Given the description of an element on the screen output the (x, y) to click on. 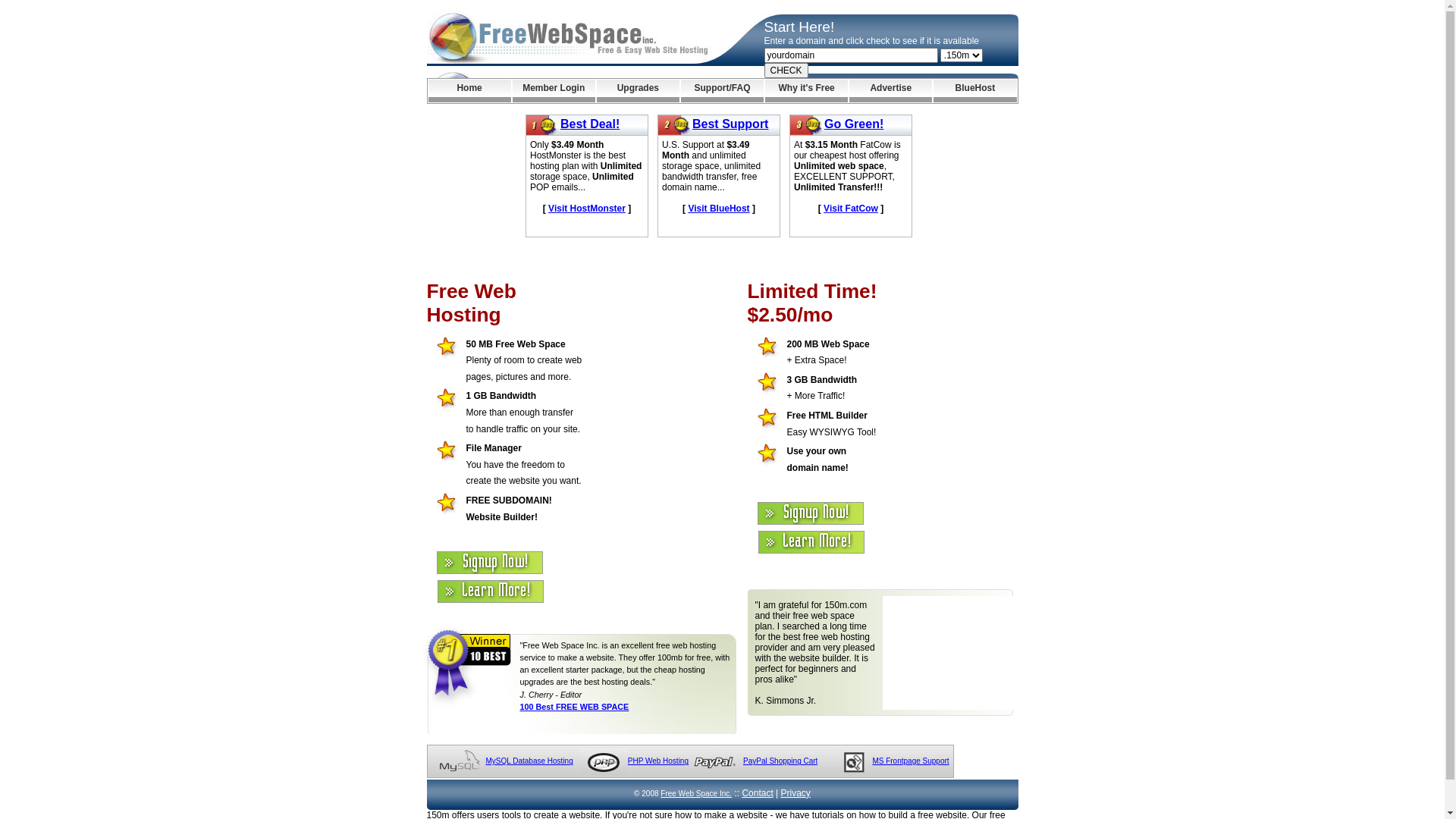
Advertise Element type: text (890, 90)
Member Login Element type: text (553, 90)
Free Web Space Inc. Element type: text (695, 793)
100 Best FREE WEB SPACE Element type: text (574, 706)
PayPal Shopping Cart Element type: text (780, 760)
PHP Web Hosting Element type: text (657, 760)
Privacy Element type: text (795, 792)
CHECK Element type: text (786, 70)
BlueHost Element type: text (974, 90)
MySQL Database Hosting Element type: text (528, 760)
MS Frontpage Support Element type: text (910, 760)
Contact Element type: text (756, 792)
Support/FAQ Element type: text (721, 90)
Upgrades Element type: text (637, 90)
Home Element type: text (468, 90)
Why it's Free Element type: text (806, 90)
